Given the description of an element on the screen output the (x, y) to click on. 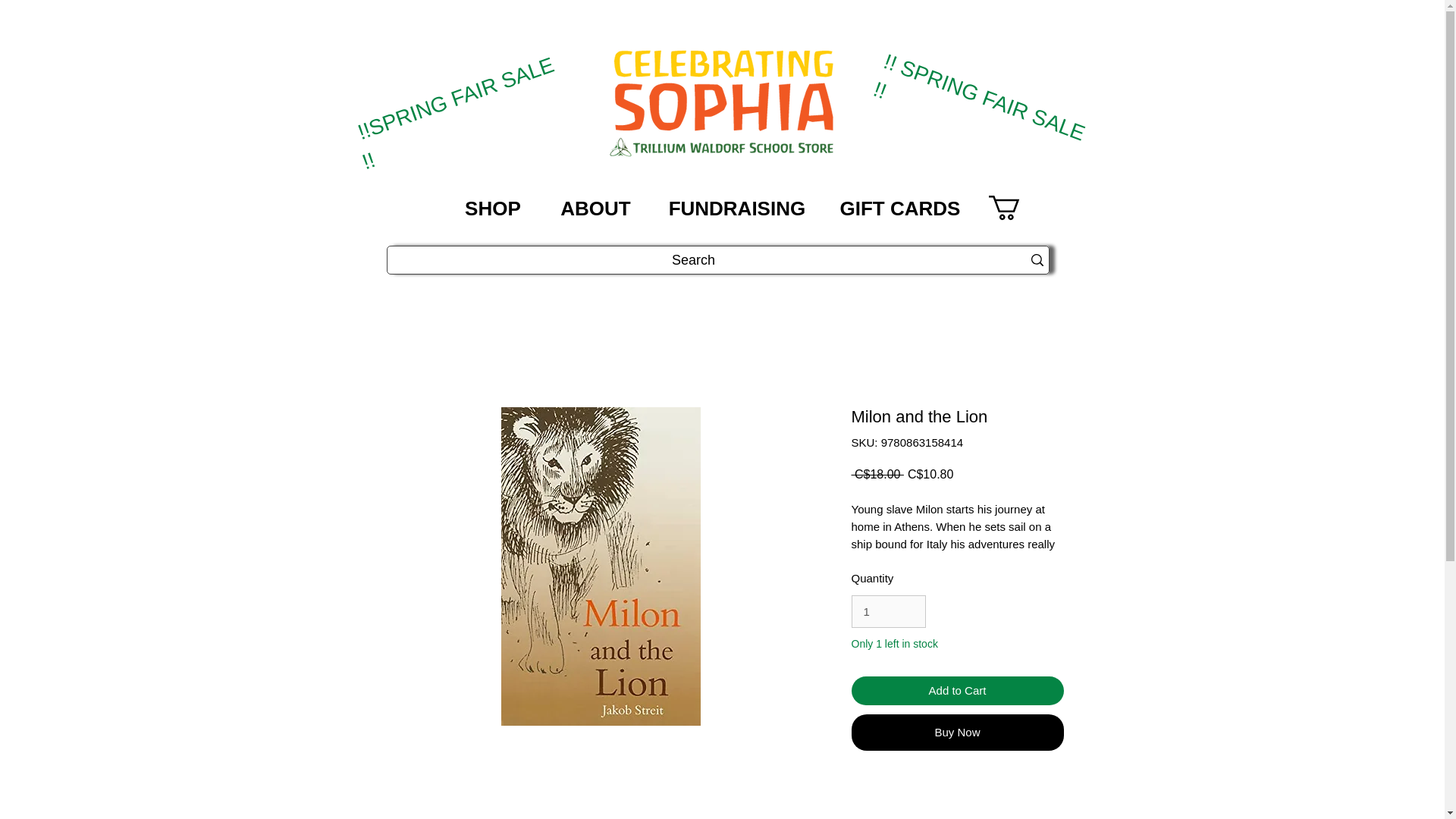
 !!SPRING FAIR SALE !! (454, 79)
1 (887, 611)
Buy Now (956, 732)
Add to Cart (956, 690)
FUNDRAISING (736, 207)
GIFT CARDS (899, 207)
SHOP (492, 207)
ABOUT (595, 207)
!! SPRING FAIR SALE !! (976, 75)
